Given the description of an element on the screen output the (x, y) to click on. 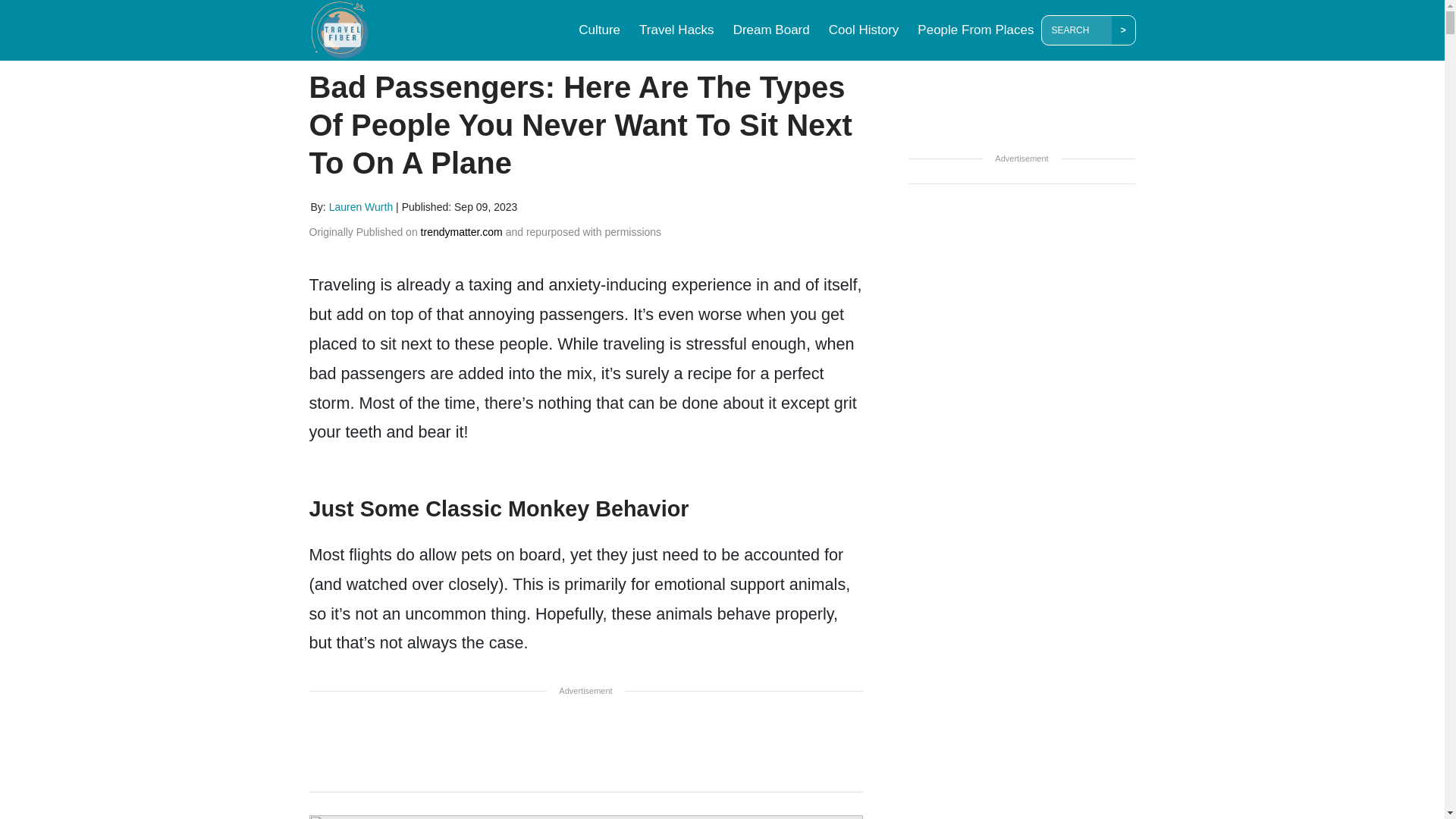
Lauren Wurth (361, 206)
Cool History (864, 30)
Travel Hacks (676, 30)
trendymatter.com (461, 232)
Culture (598, 30)
Search (1079, 30)
Dream Board (770, 30)
People From Places (975, 30)
